Given the description of an element on the screen output the (x, y) to click on. 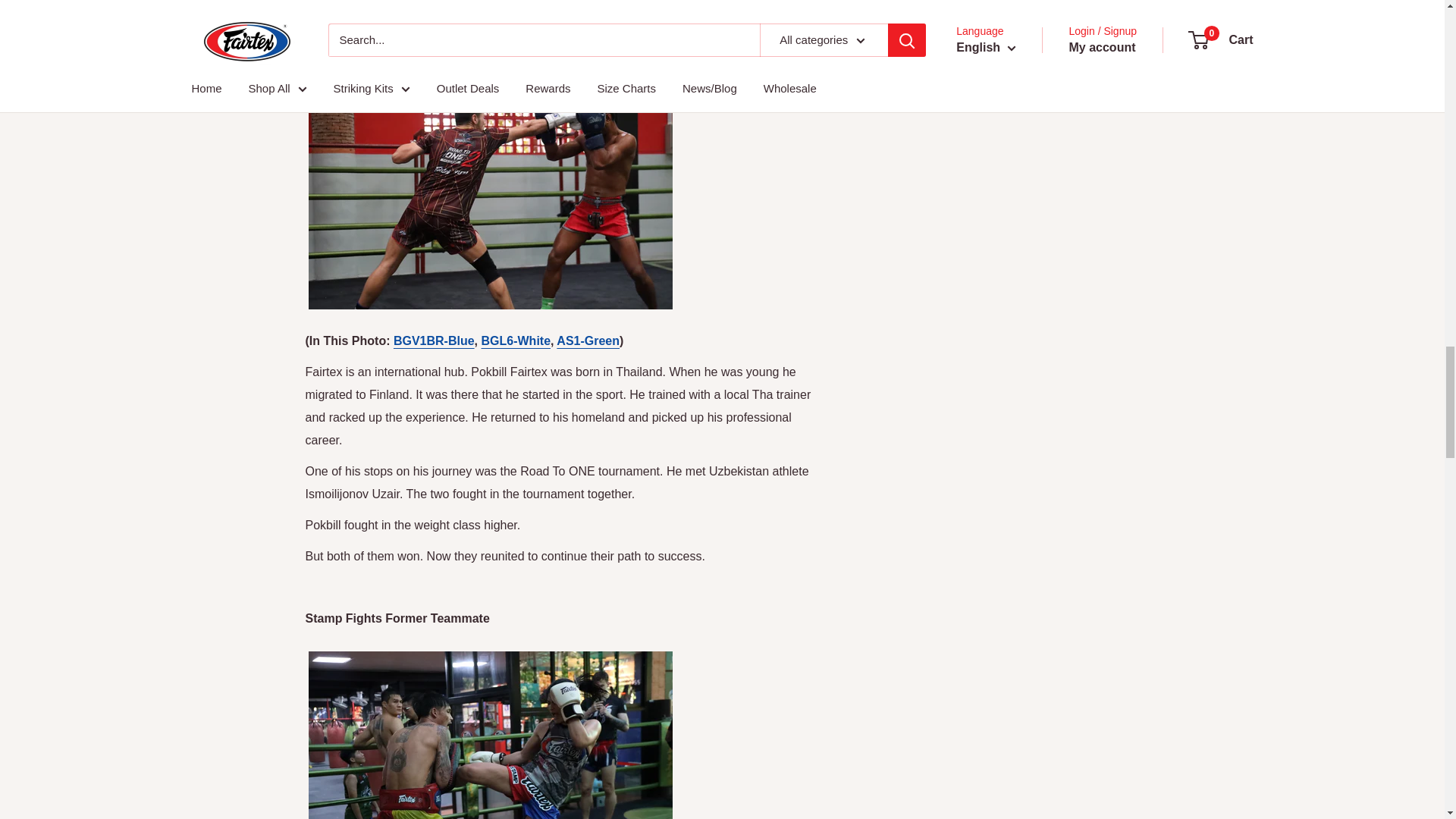
BGV1BR-Blue (433, 340)
AS1-Green (588, 340)
BGL6-White (515, 340)
